Given the description of an element on the screen output the (x, y) to click on. 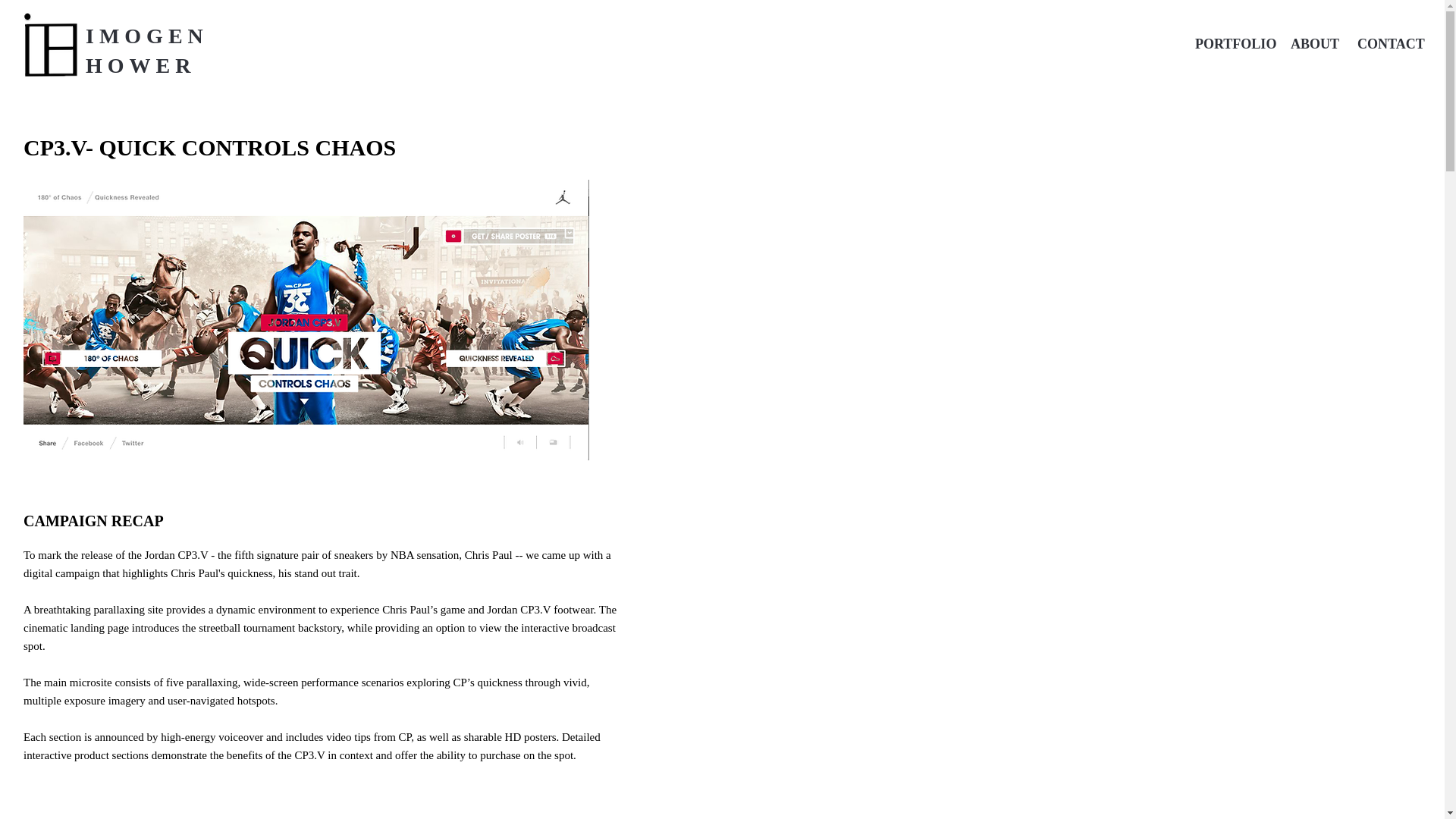
ABOUT (1312, 44)
CONTACT (1386, 44)
